Given the description of an element on the screen output the (x, y) to click on. 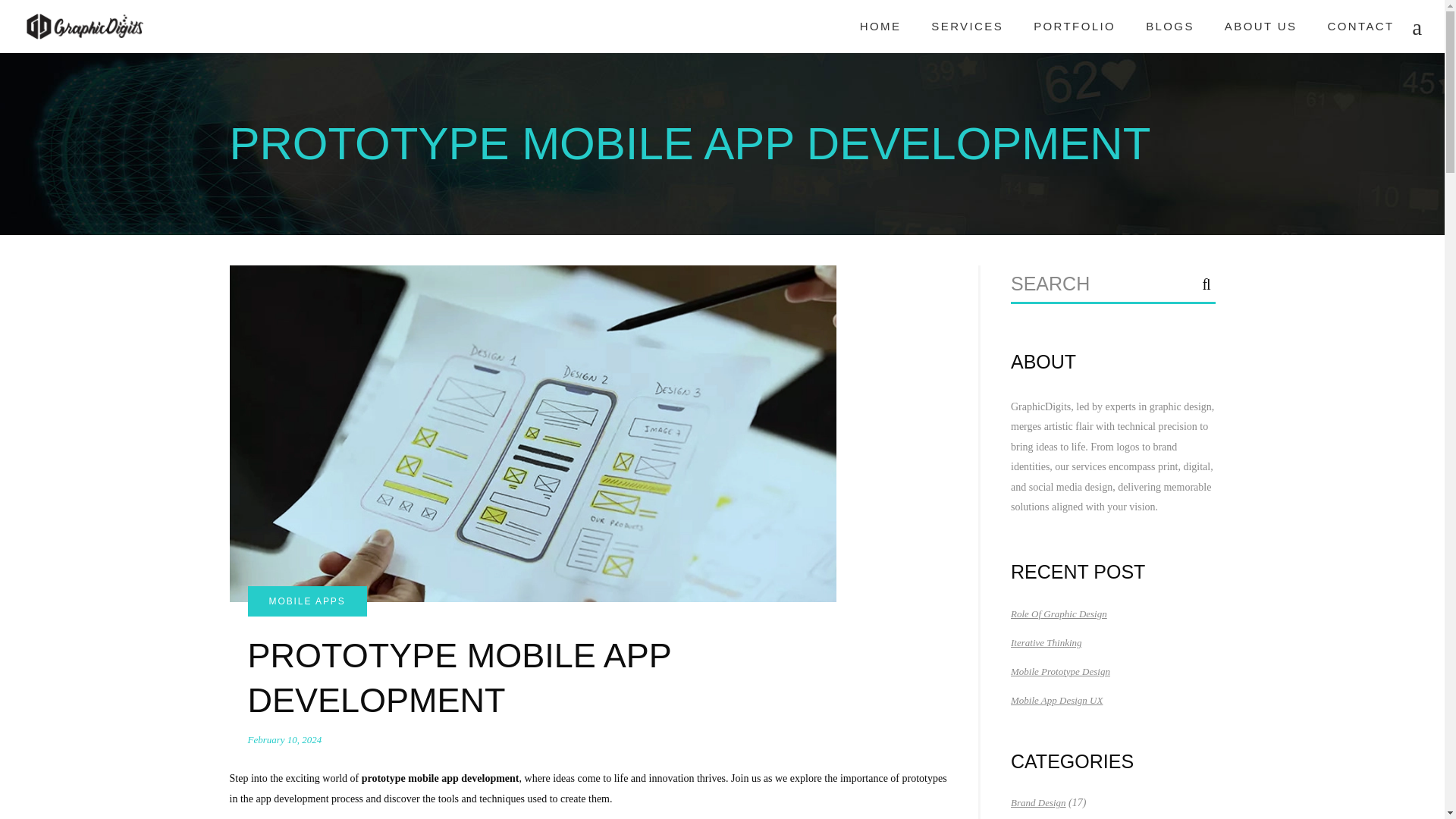
SERVICES (966, 26)
Search for: (1094, 283)
HOME (880, 26)
